Given the description of an element on the screen output the (x, y) to click on. 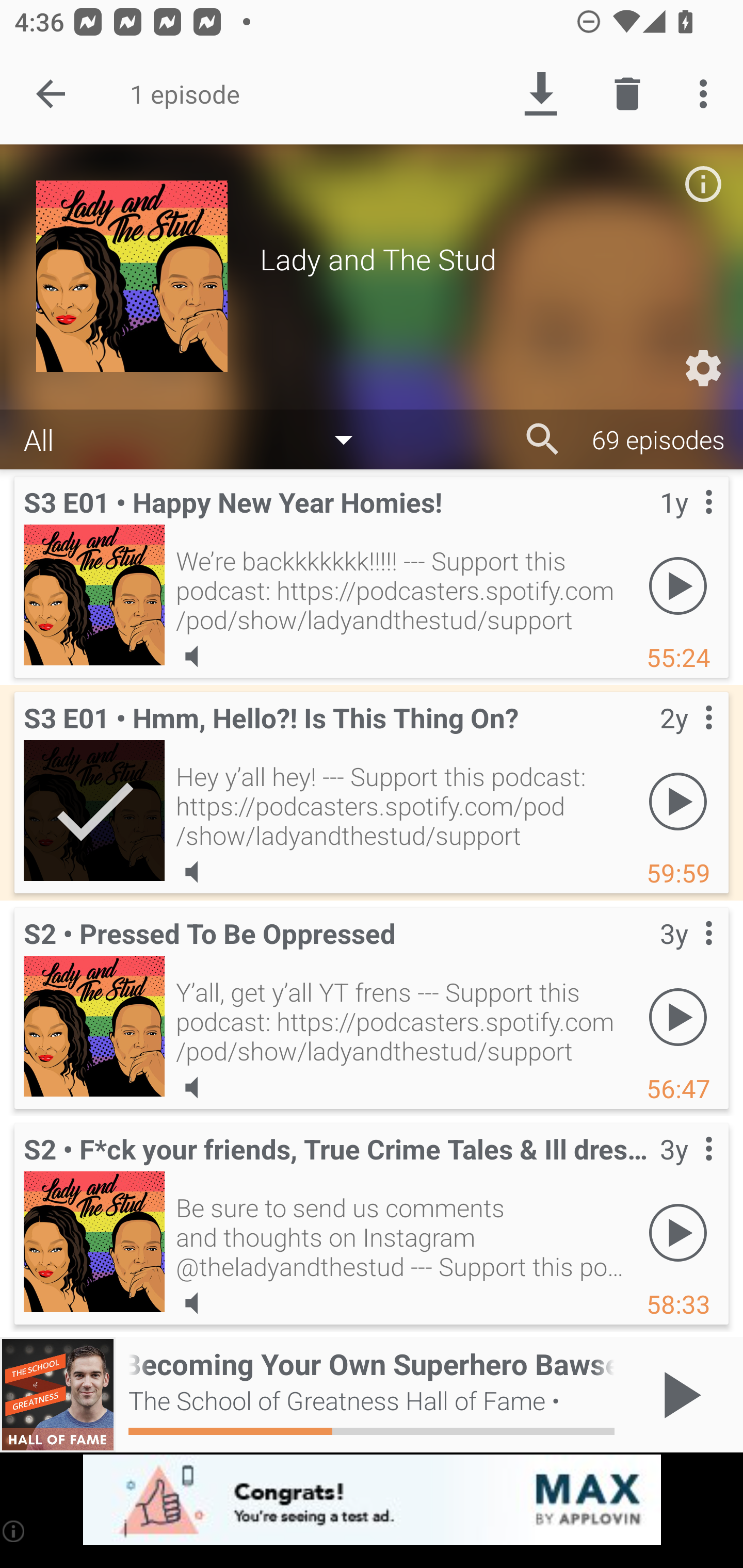
Done (50, 93)
Download (540, 93)
Delete episode (626, 93)
More options (706, 93)
Podcast description (703, 184)
Custom Settings (703, 368)
Search (542, 439)
All (197, 438)
Contextual menu (685, 522)
Happy New Year Homies! (93, 594)
Play (677, 585)
Contextual menu (685, 738)
Hmm, Hello?! Is This Thing On? (93, 810)
Play (677, 801)
Contextual menu (685, 954)
Pressed To Be Oppressed (93, 1026)
Play (677, 1016)
Contextual menu (685, 1169)
Play (677, 1232)
Play / Pause (677, 1394)
app-monetization (371, 1500)
(i) (14, 1531)
